Given the description of an element on the screen output the (x, y) to click on. 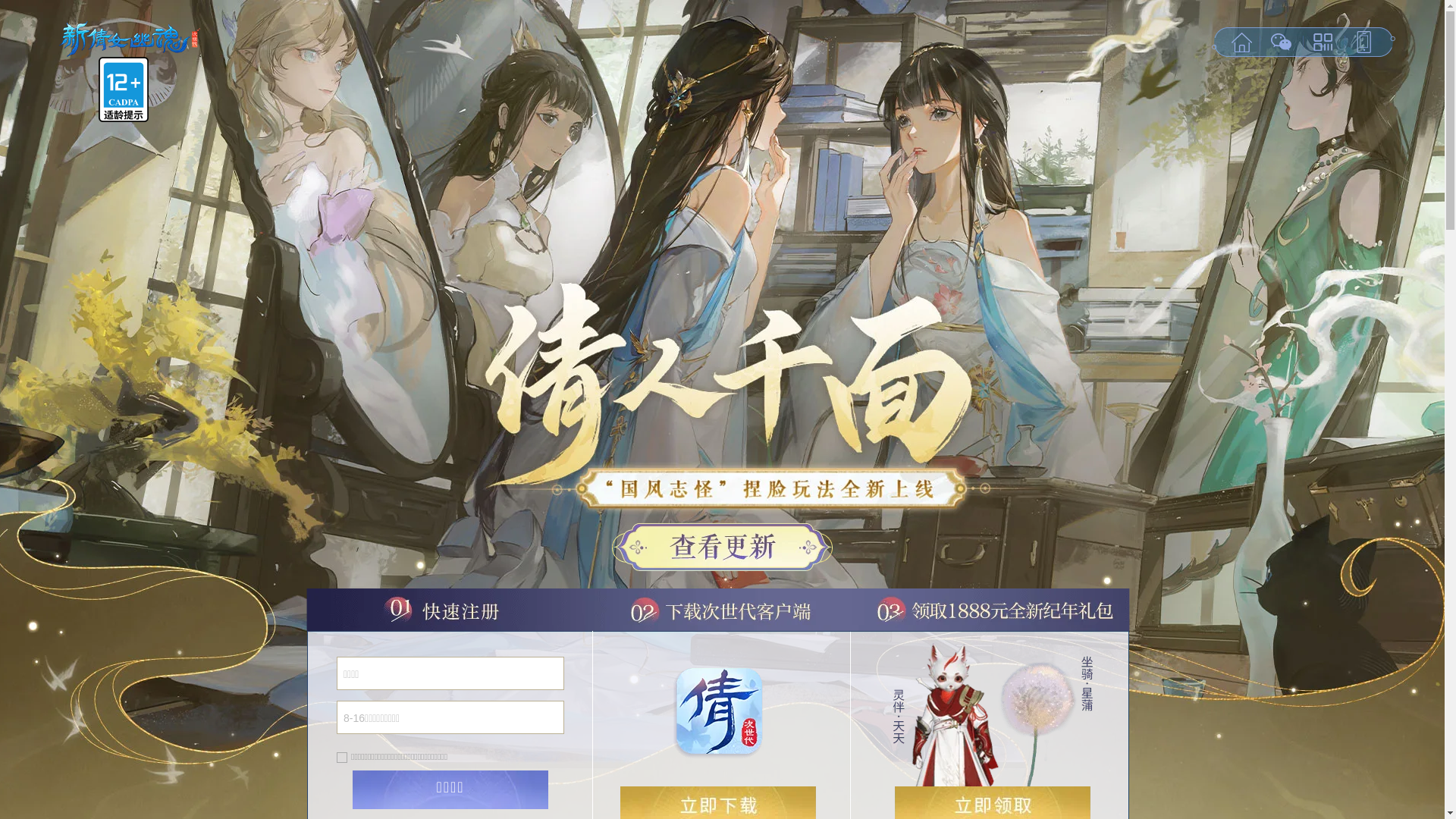
12+ Element type: hover (123, 89)
